Given the description of an element on the screen output the (x, y) to click on. 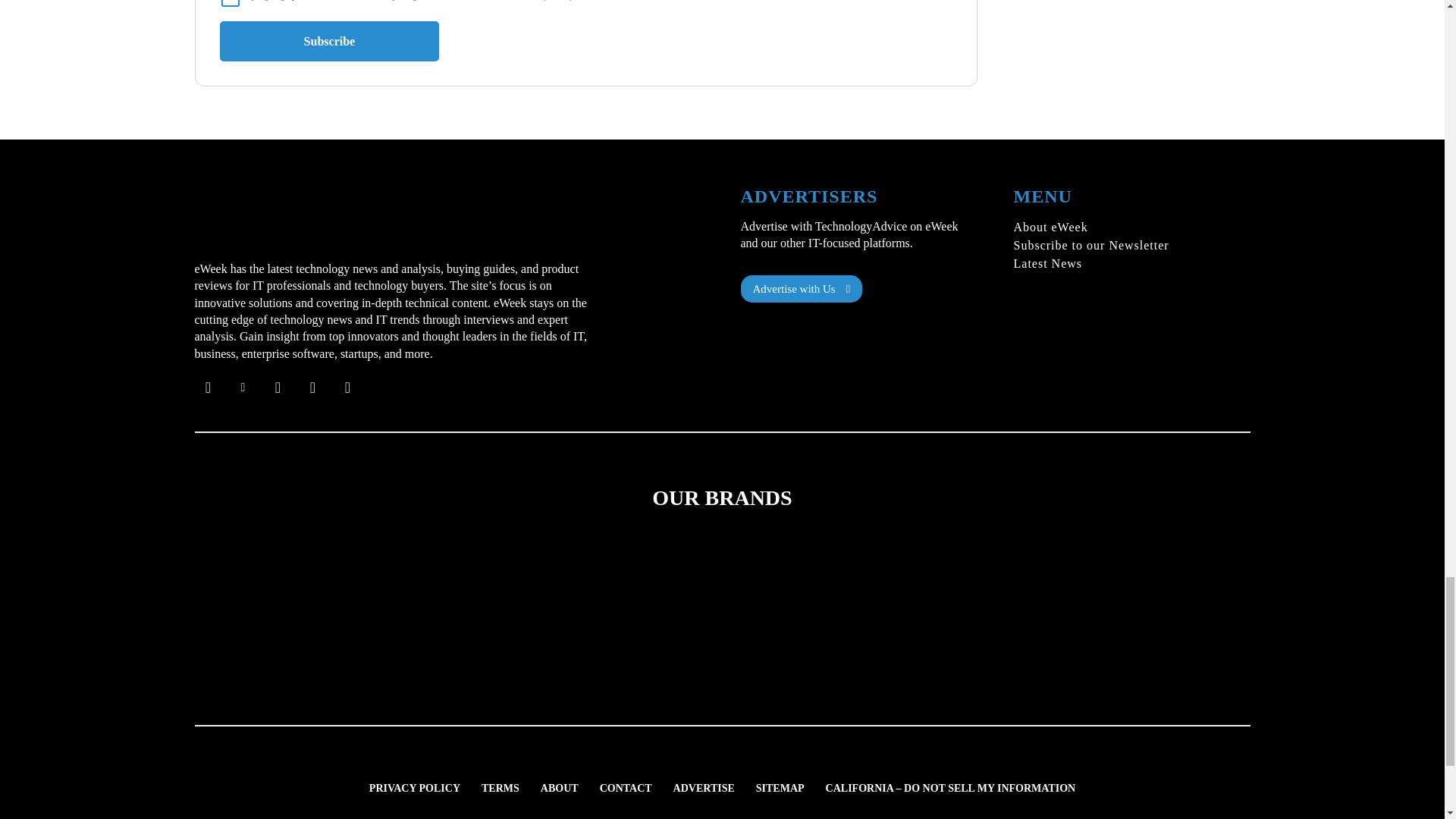
on (230, 3)
